Given the description of an element on the screen output the (x, y) to click on. 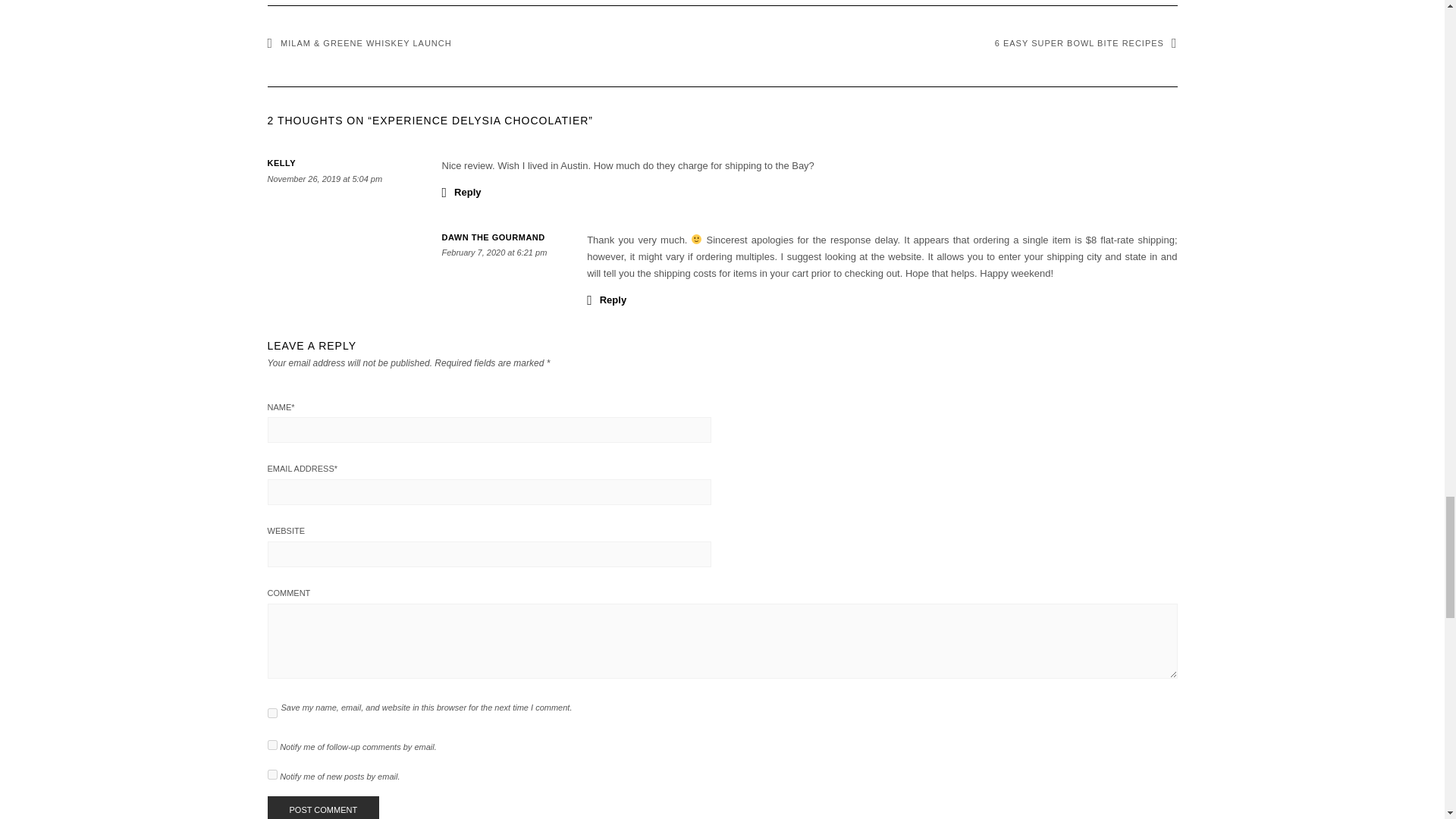
subscribe (271, 745)
subscribe (271, 774)
Post Comment (322, 807)
yes (271, 713)
